Given the description of an element on the screen output the (x, y) to click on. 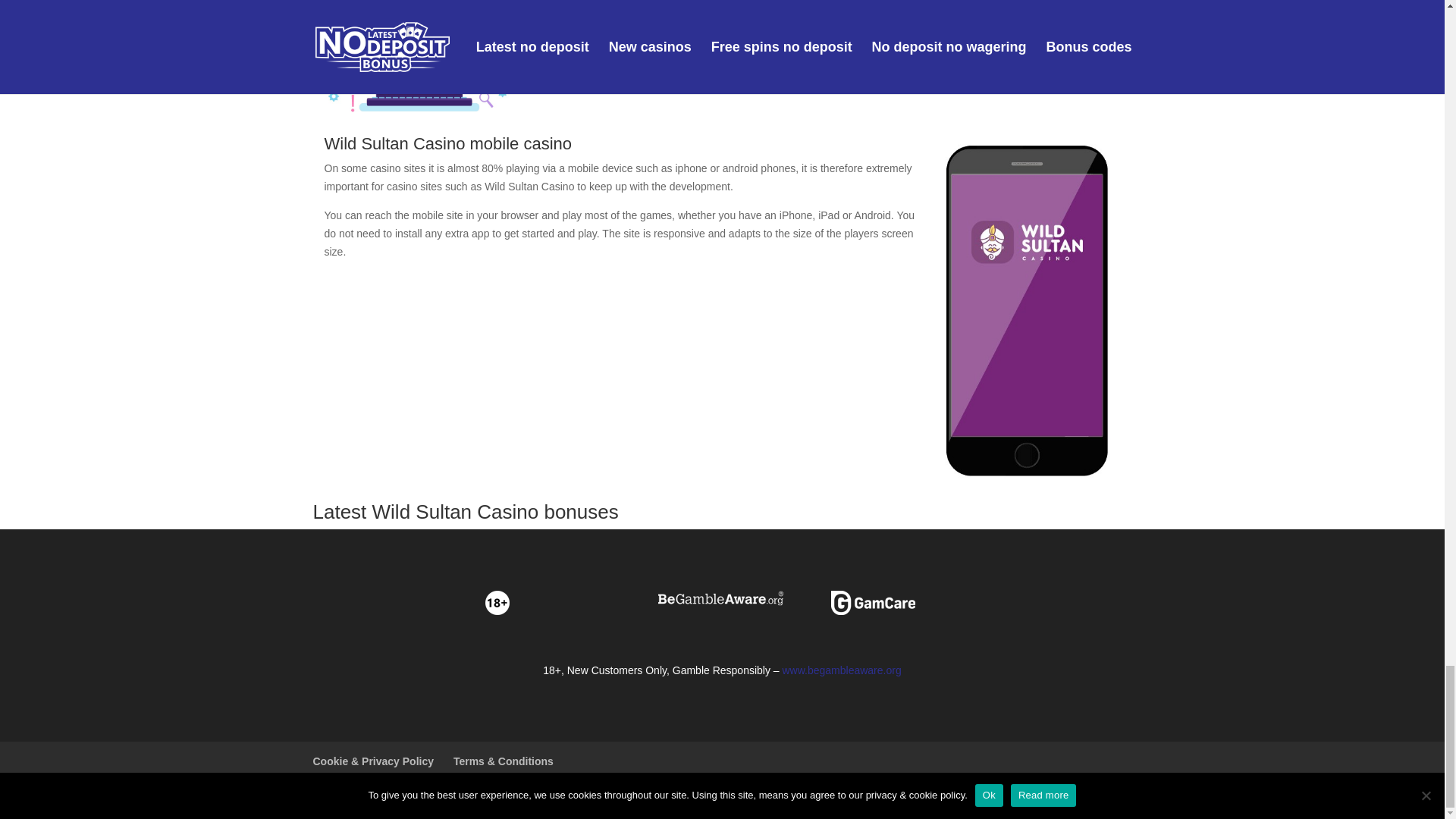
www.begambleaware.org (842, 670)
